Given the description of an element on the screen output the (x, y) to click on. 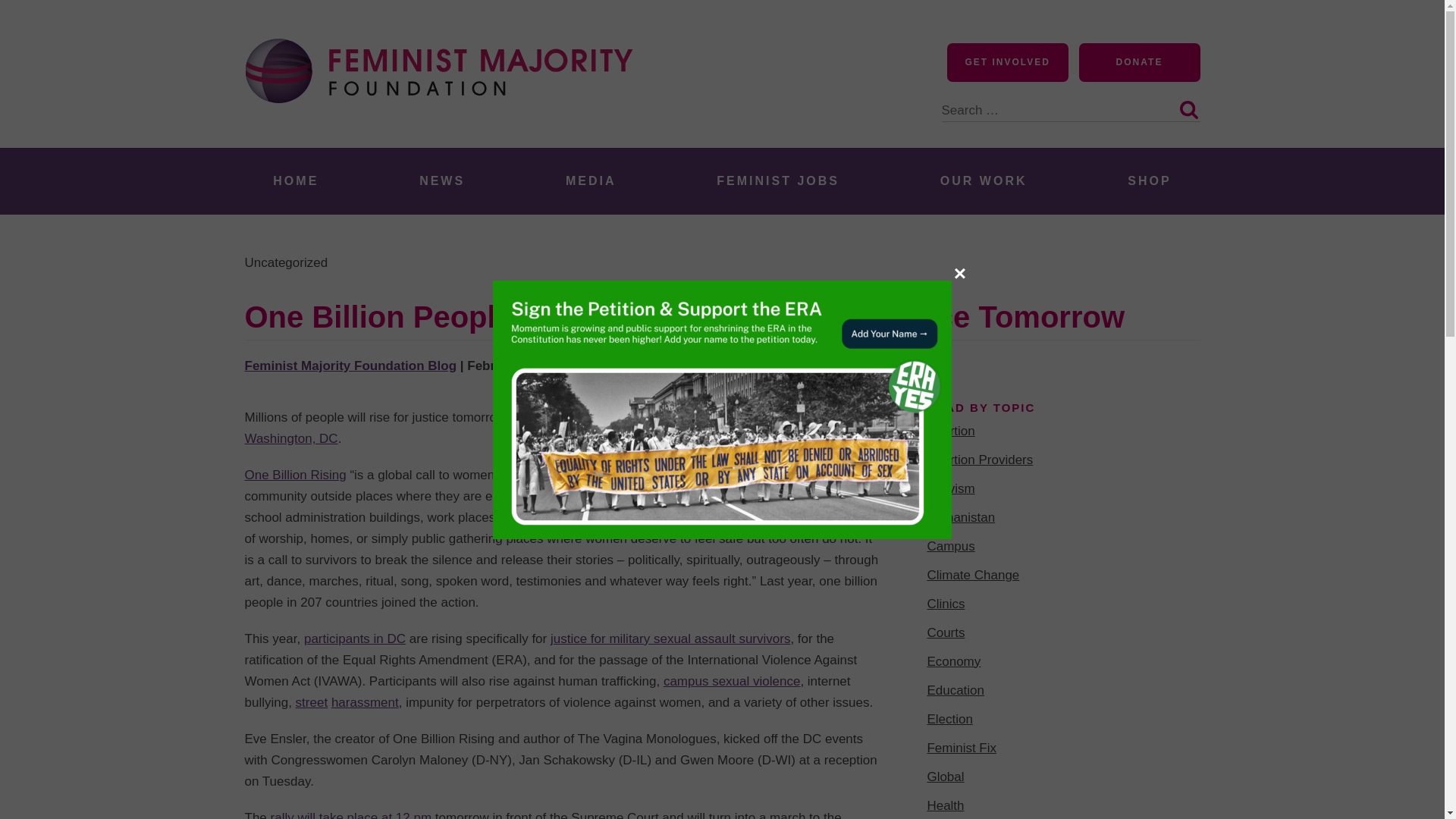
participants in DC (355, 638)
Search for: (1070, 101)
Feminist Majority Foundation Blog (350, 365)
NEWS (441, 181)
Posts by Feminist Majority Foundation Blog (350, 365)
HOME (295, 181)
a rally in Washington, DC (555, 427)
MEDIA (591, 181)
DONATE (1138, 62)
harassment (364, 702)
One Billion Rising (295, 474)
Feminist Majority Foundation (445, 130)
GET INVOLVED (1007, 62)
Search (1187, 109)
campus sexual violence (731, 681)
